Given the description of an element on the screen output the (x, y) to click on. 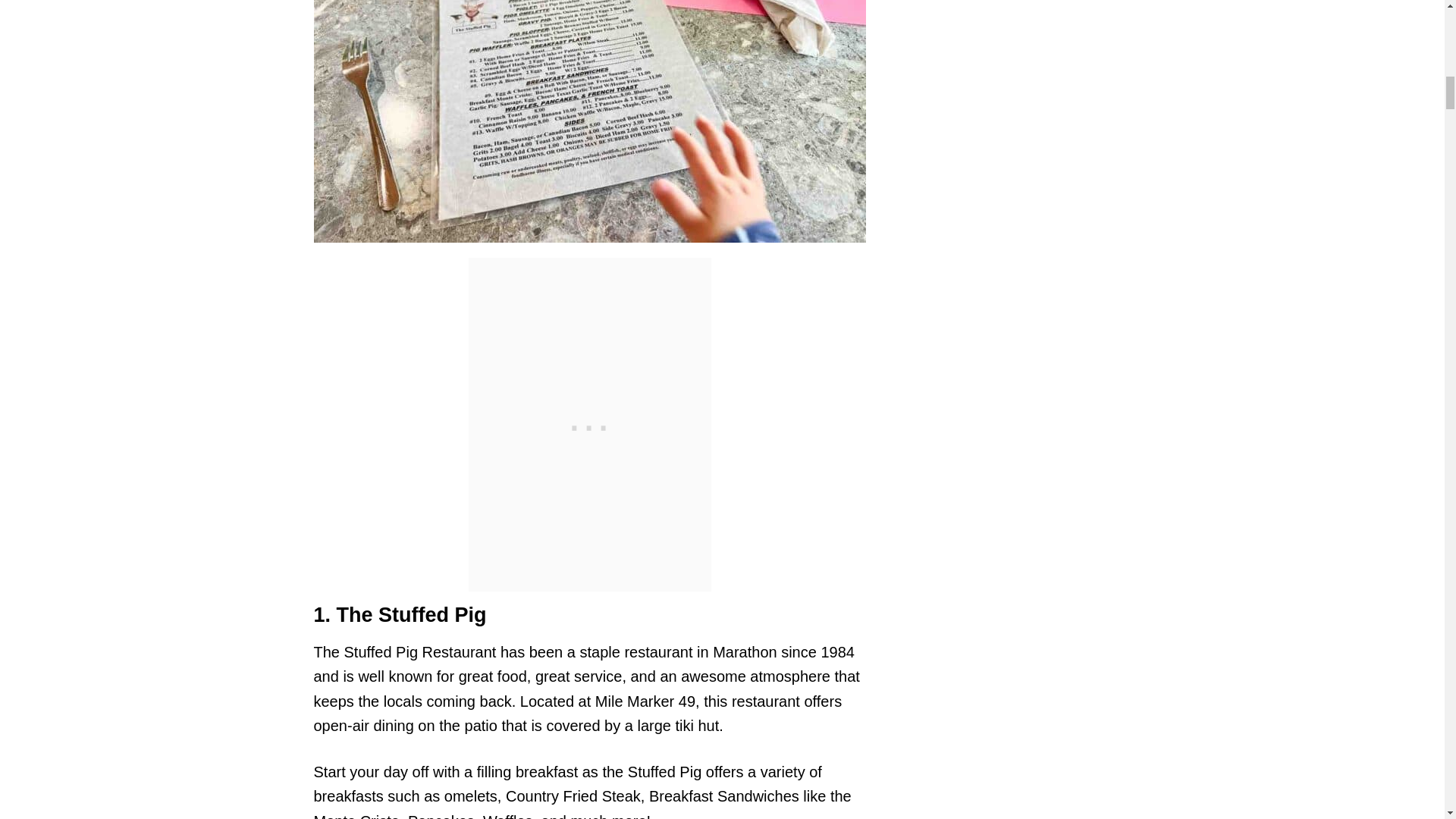
Best Restaurants in Marathon, Florida that you must TRY! 1 (590, 121)
